Given the description of an element on the screen output the (x, y) to click on. 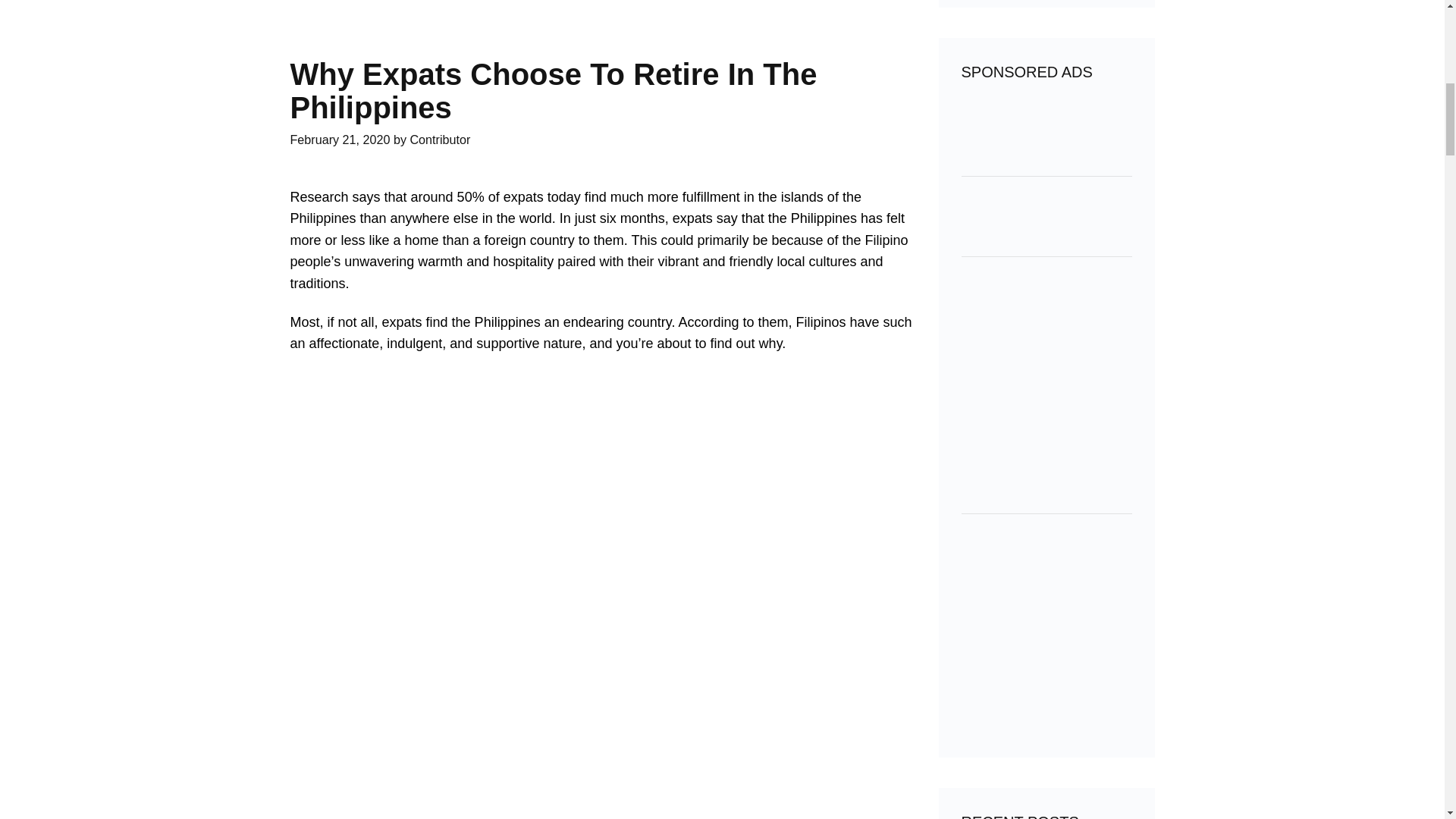
Scroll back to top (1406, 720)
View all posts by Contributor (439, 139)
